Given the description of an element on the screen output the (x, y) to click on. 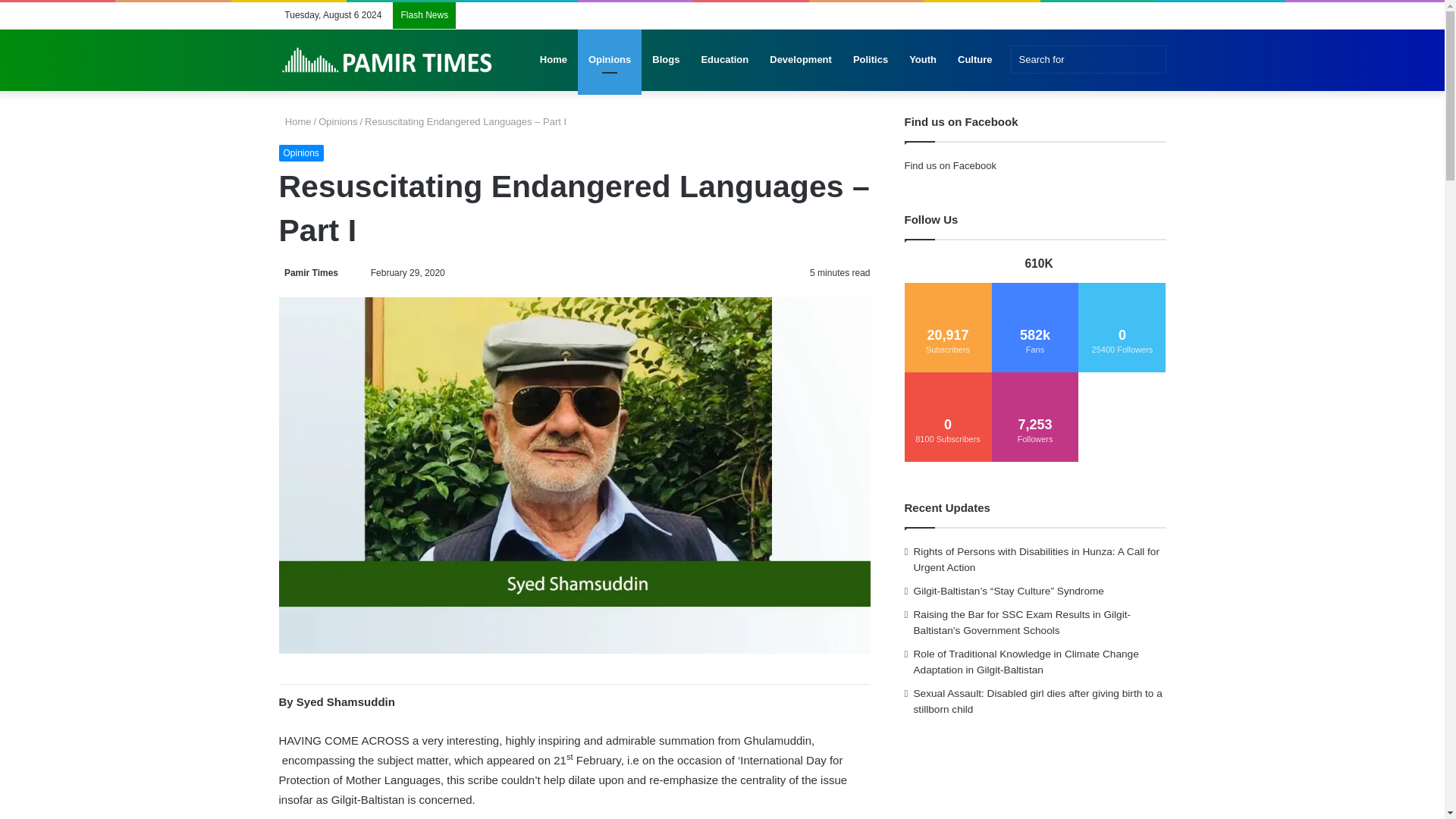
Development (800, 59)
Culture (975, 59)
Opinions (301, 152)
Politics (870, 59)
Pamir Times (309, 272)
Opinions (610, 59)
Home (295, 121)
Pamir Times (309, 272)
Education (724, 59)
Search for (1088, 59)
PAMIR TIMES (387, 60)
Opinions (337, 121)
